Given the description of an element on the screen output the (x, y) to click on. 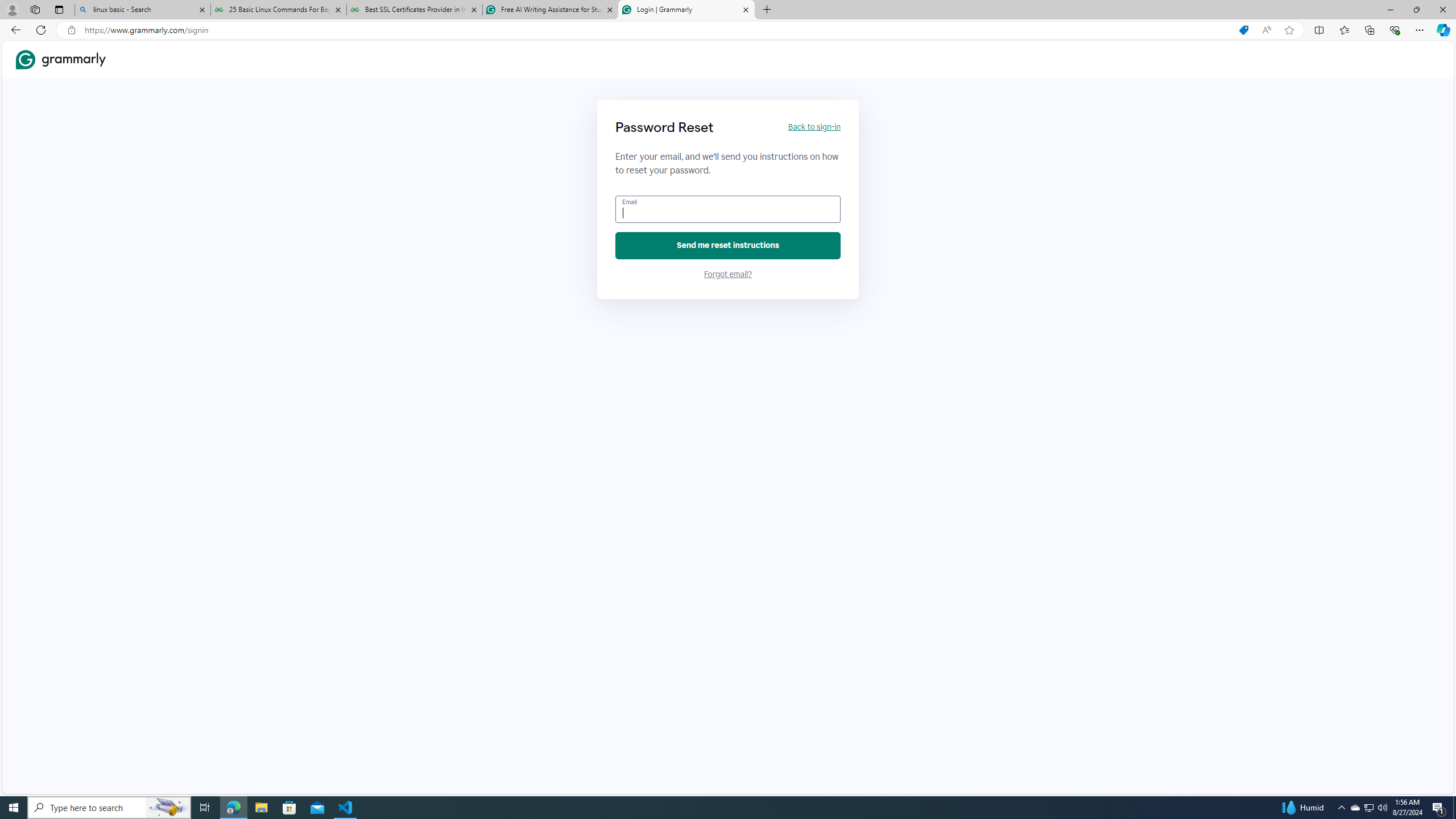
Free AI Writing Assistance for Students | Grammarly (550, 9)
Send me reset instructions (727, 245)
Best SSL Certificates Provider in India - GeeksforGeeks (414, 9)
linux basic - Search (142, 9)
Login | Grammarly (685, 9)
